Given the description of an element on the screen output the (x, y) to click on. 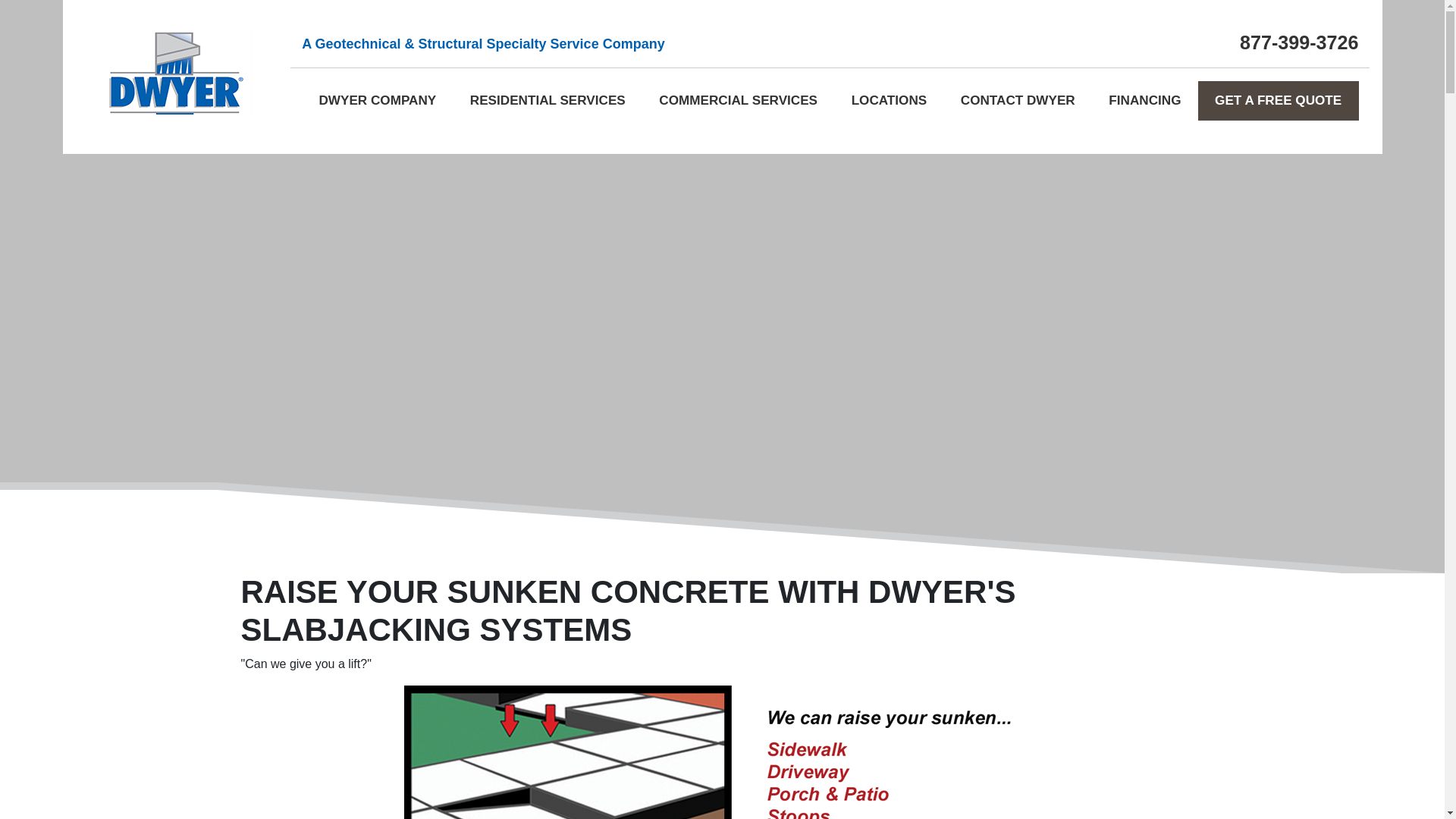
877-399-3726 (1299, 42)
FINANCING (1145, 100)
COMMERCIAL SERVICES (738, 100)
DWYER COMPANY (376, 100)
RESIDENTIAL SERVICES (547, 100)
CONTACT DWYER (1017, 100)
Residential Services (317, 111)
LOCATIONS (888, 100)
GET A FREE QUOTE (1278, 100)
